Given the description of an element on the screen output the (x, y) to click on. 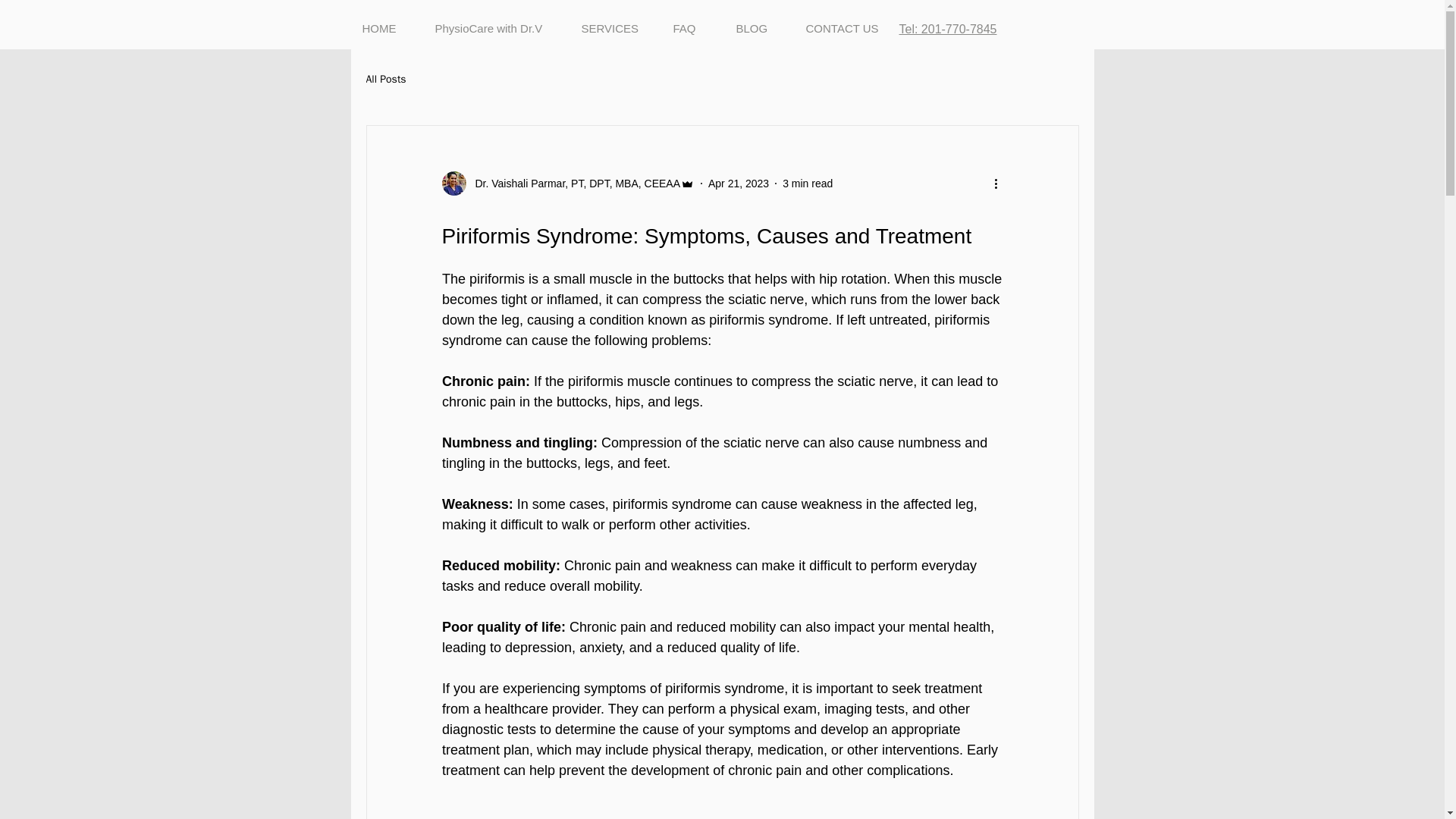
SERVICES (616, 28)
BLOG (759, 28)
PhysioCare with Dr.V (496, 28)
Dr. Vaishali Parmar, PT, DPT, MBA, CEEAA (572, 183)
All Posts (385, 79)
Dr. Vaishali Parmar, PT, DPT, MBA, CEEAA (567, 183)
Apr 21, 2023 (737, 183)
3 min read (807, 183)
CONTACT US (846, 28)
Tel: 201-770-7845 (948, 29)
HOME (386, 28)
FAQ (692, 28)
